Given the description of an element on the screen output the (x, y) to click on. 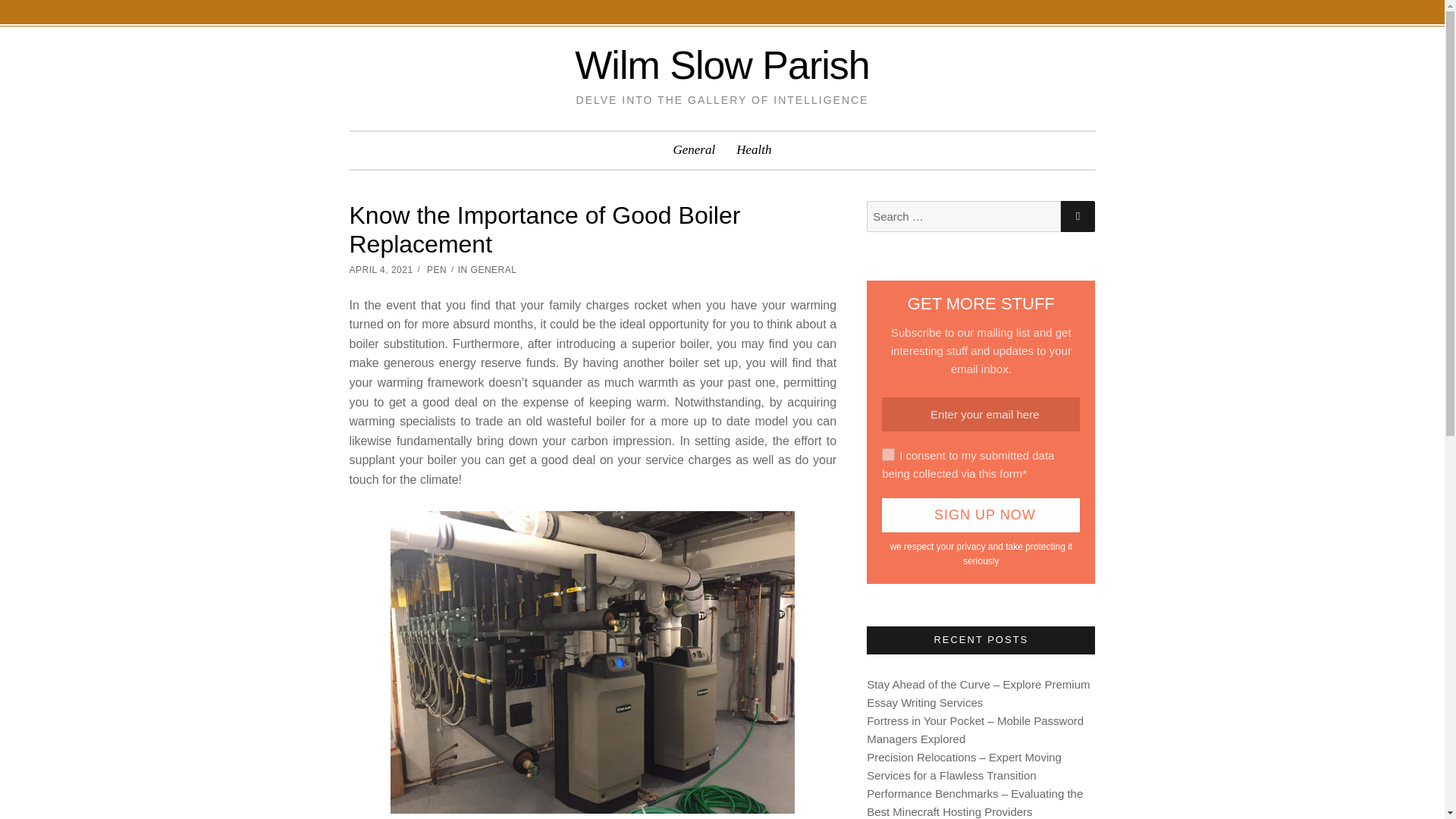
Health (753, 149)
Wilm Slow Parish (722, 64)
Sign Up Now (981, 514)
PEN (436, 268)
on (888, 454)
APRIL 4, 2021 (380, 268)
General (694, 149)
SEARCH (1077, 215)
Sign Up Now (981, 514)
GENERAL (493, 268)
